Given the description of an element on the screen output the (x, y) to click on. 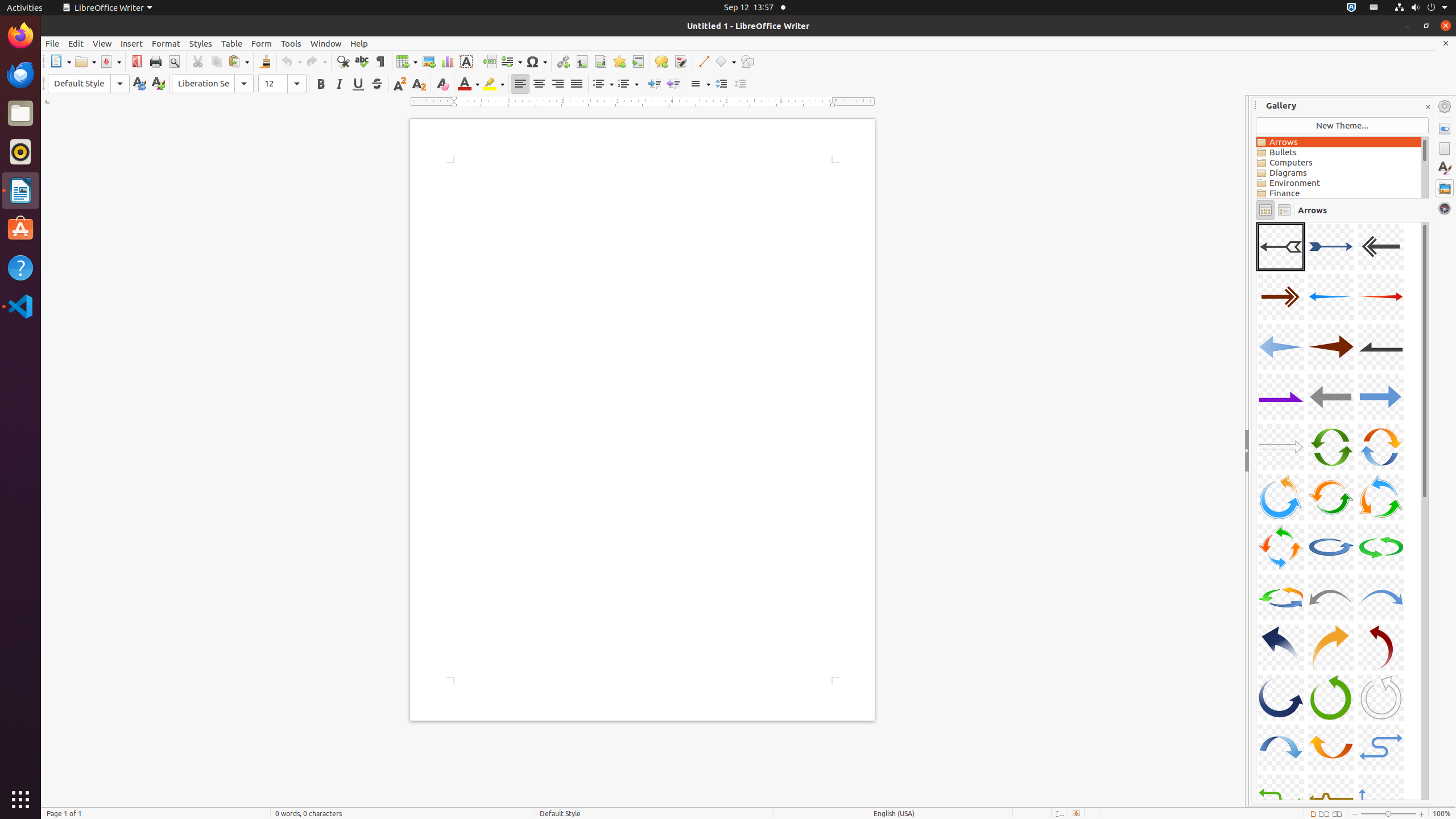
Navigator Element type: radio-button (1444, 208)
Left Element type: toggle-button (519, 83)
New Theme Element type: push-button (1341, 125)
A29-CurvedArrow-Green Element type: list-item (1330, 696)
Close Sidebar Deck Element type: push-button (1427, 106)
